Given the description of an element on the screen output the (x, y) to click on. 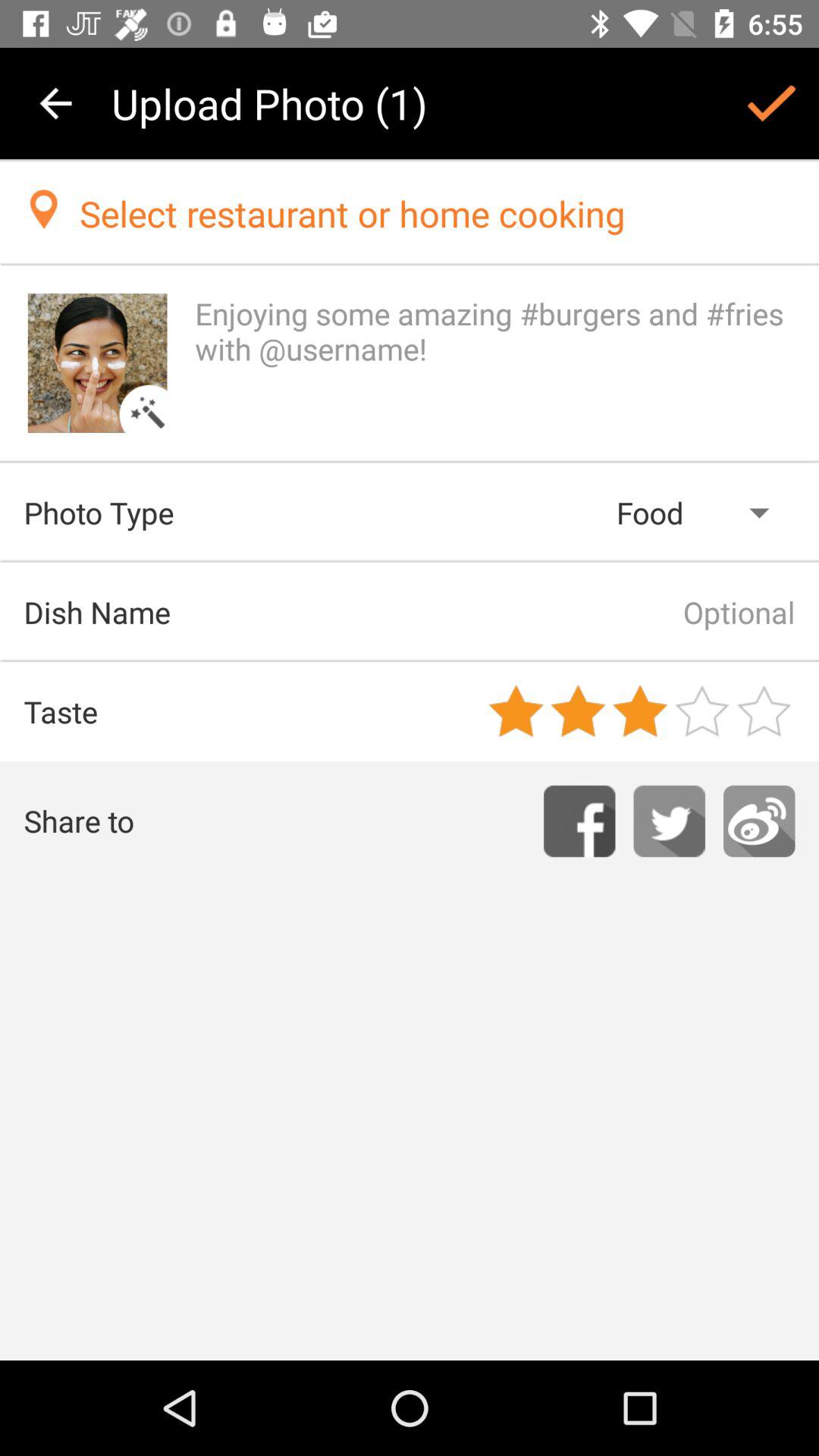
this image change (97, 362)
